Given the description of an element on the screen output the (x, y) to click on. 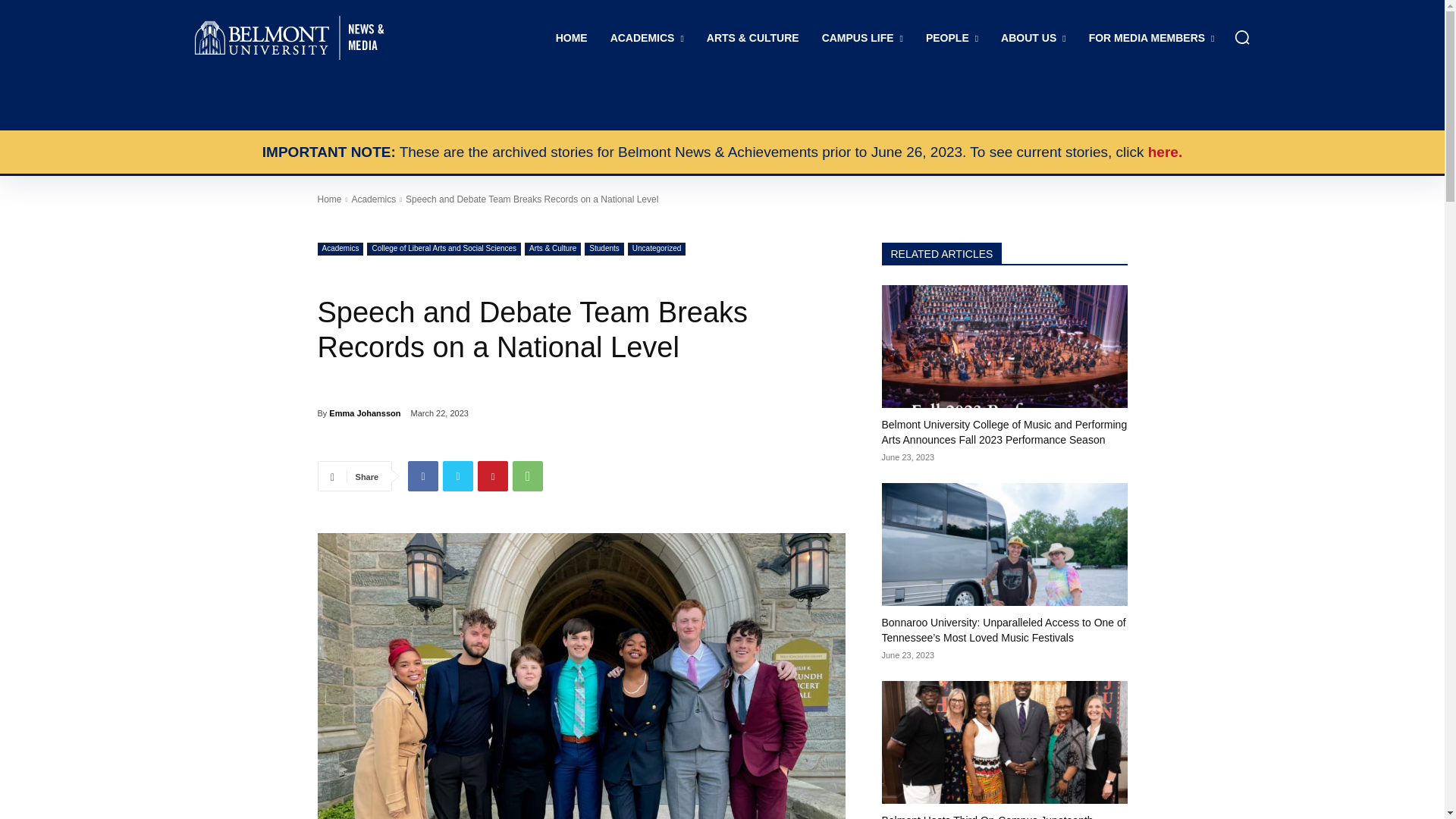
Pinterest (492, 476)
View all posts in Academics (373, 199)
Facebook (422, 476)
WhatsApp (527, 476)
ACADEMICS (646, 38)
Twitter (457, 476)
